Given the description of an element on the screen output the (x, y) to click on. 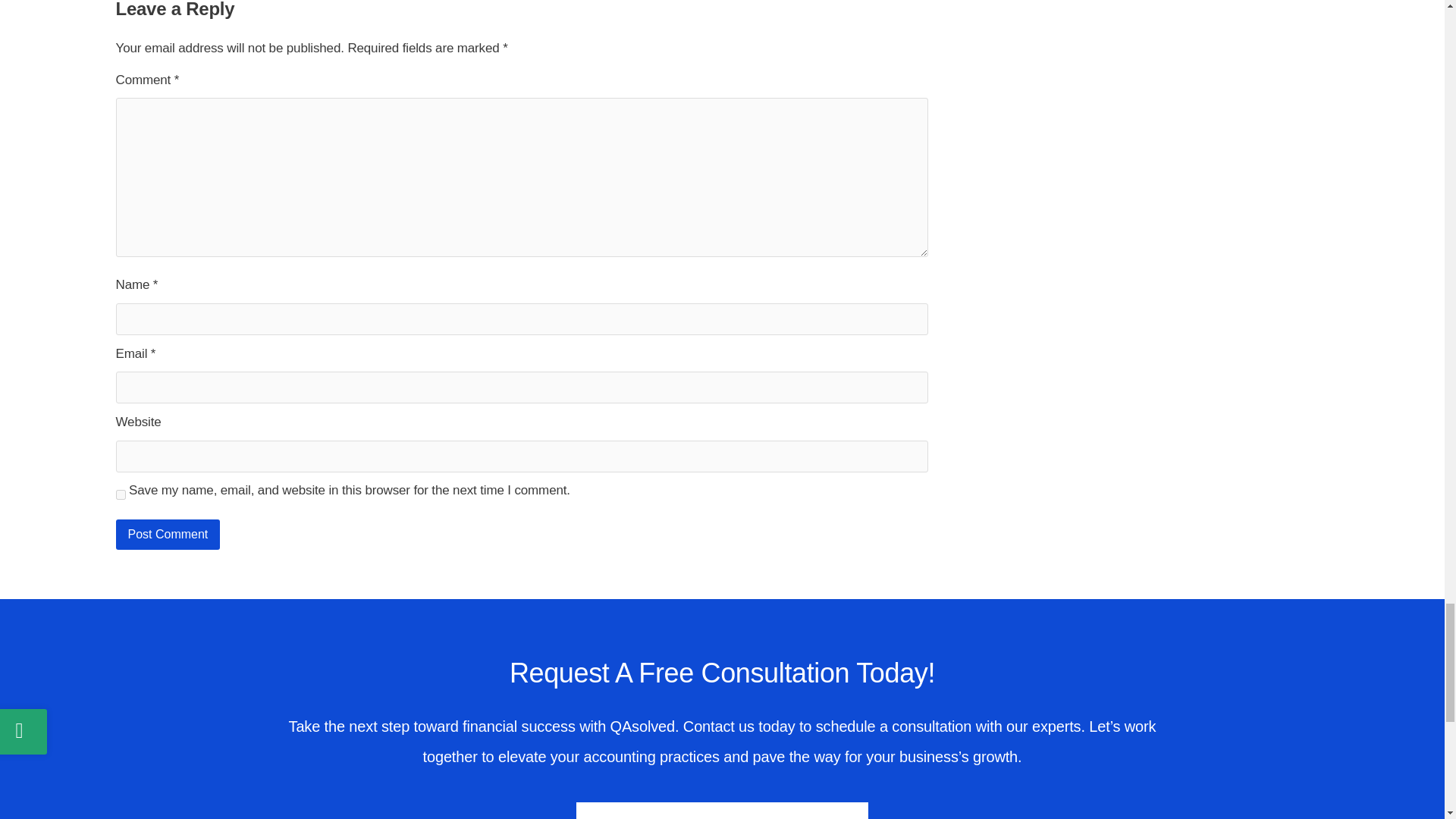
yes (120, 494)
Post Comment (167, 534)
